Given the description of an element on the screen output the (x, y) to click on. 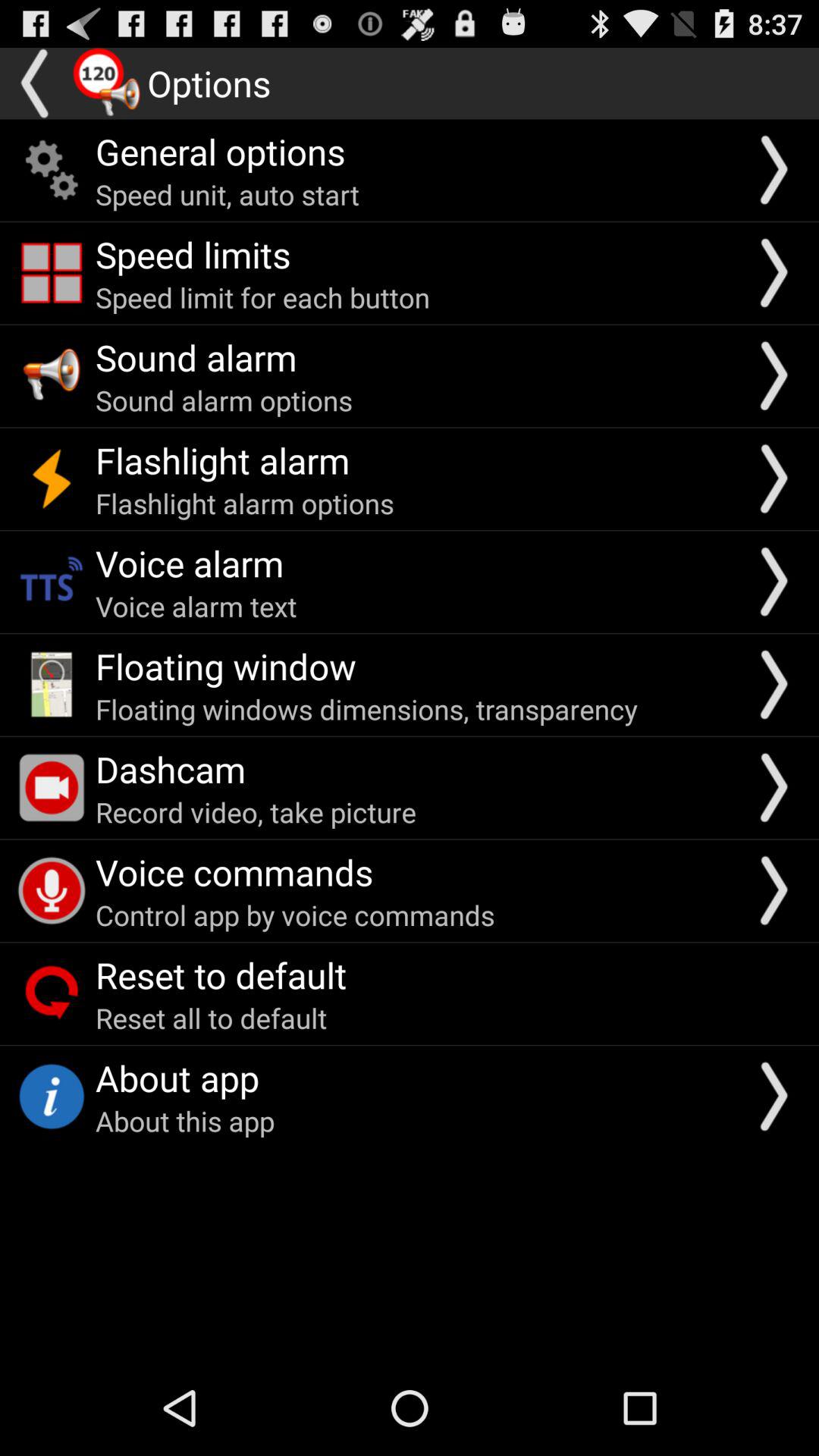
turn on item below the speed unit auto icon (192, 254)
